Given the description of an element on the screen output the (x, y) to click on. 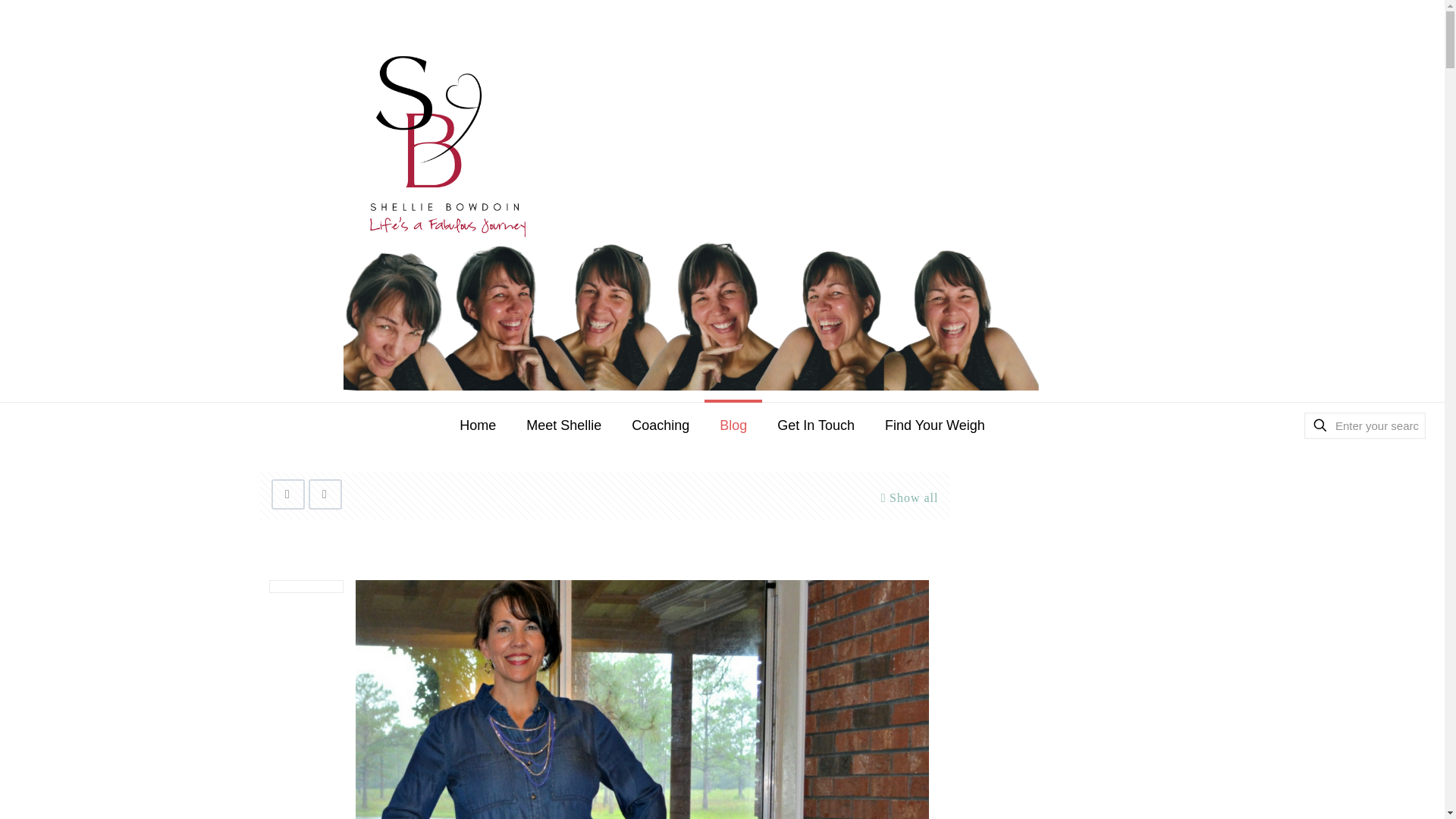
Coaching (659, 424)
Meet Shellie (563, 424)
Find Your Weigh (934, 424)
Get In Touch (815, 424)
Show all (907, 497)
Home (477, 424)
Blog (732, 424)
